Given the description of an element on the screen output the (x, y) to click on. 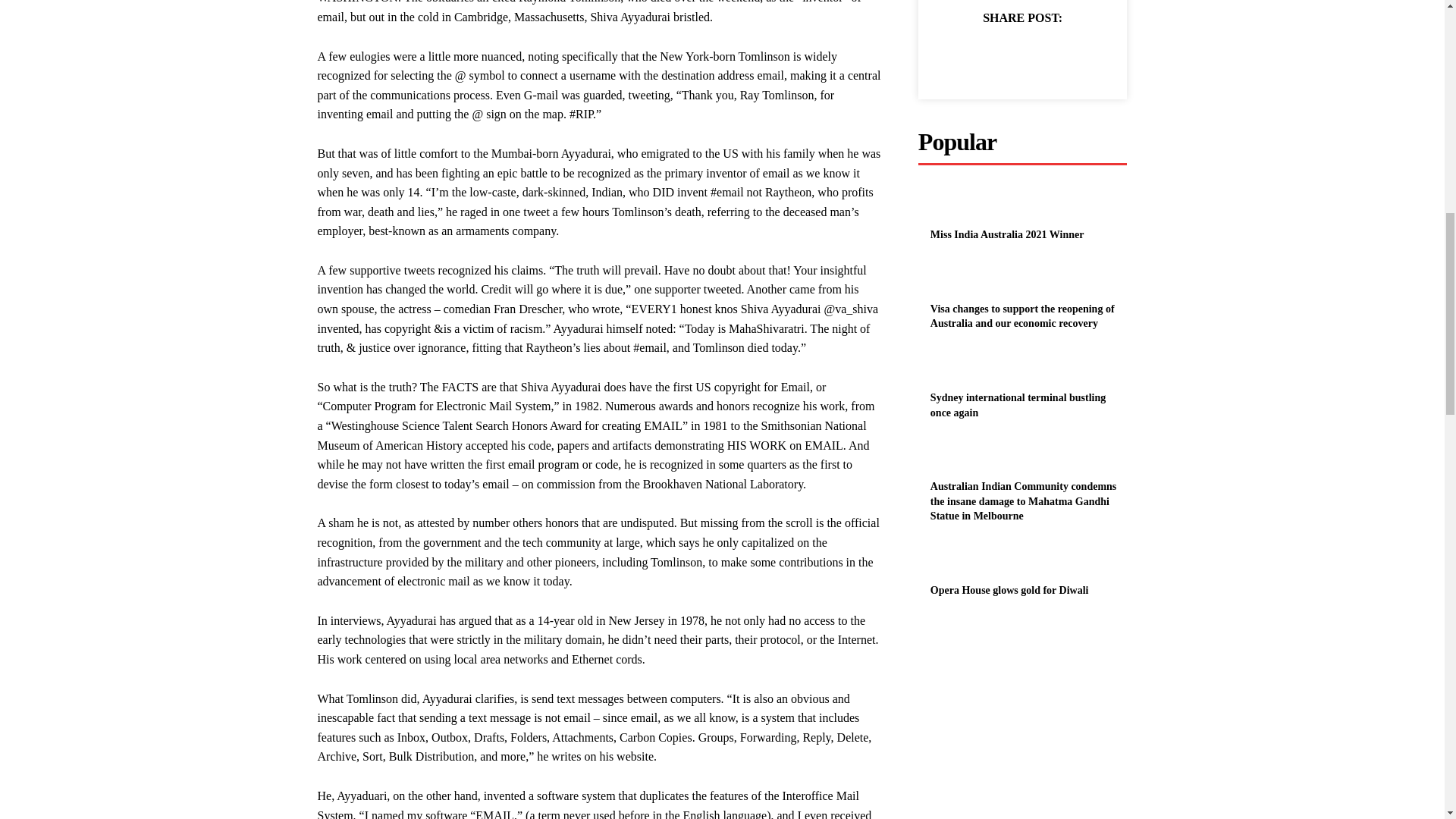
Sydney international terminal bustling once again (949, 368)
Miss India Australia 2021 Winner (1007, 234)
Miss India Australia 2021 Winner (949, 206)
